Given the description of an element on the screen output the (x, y) to click on. 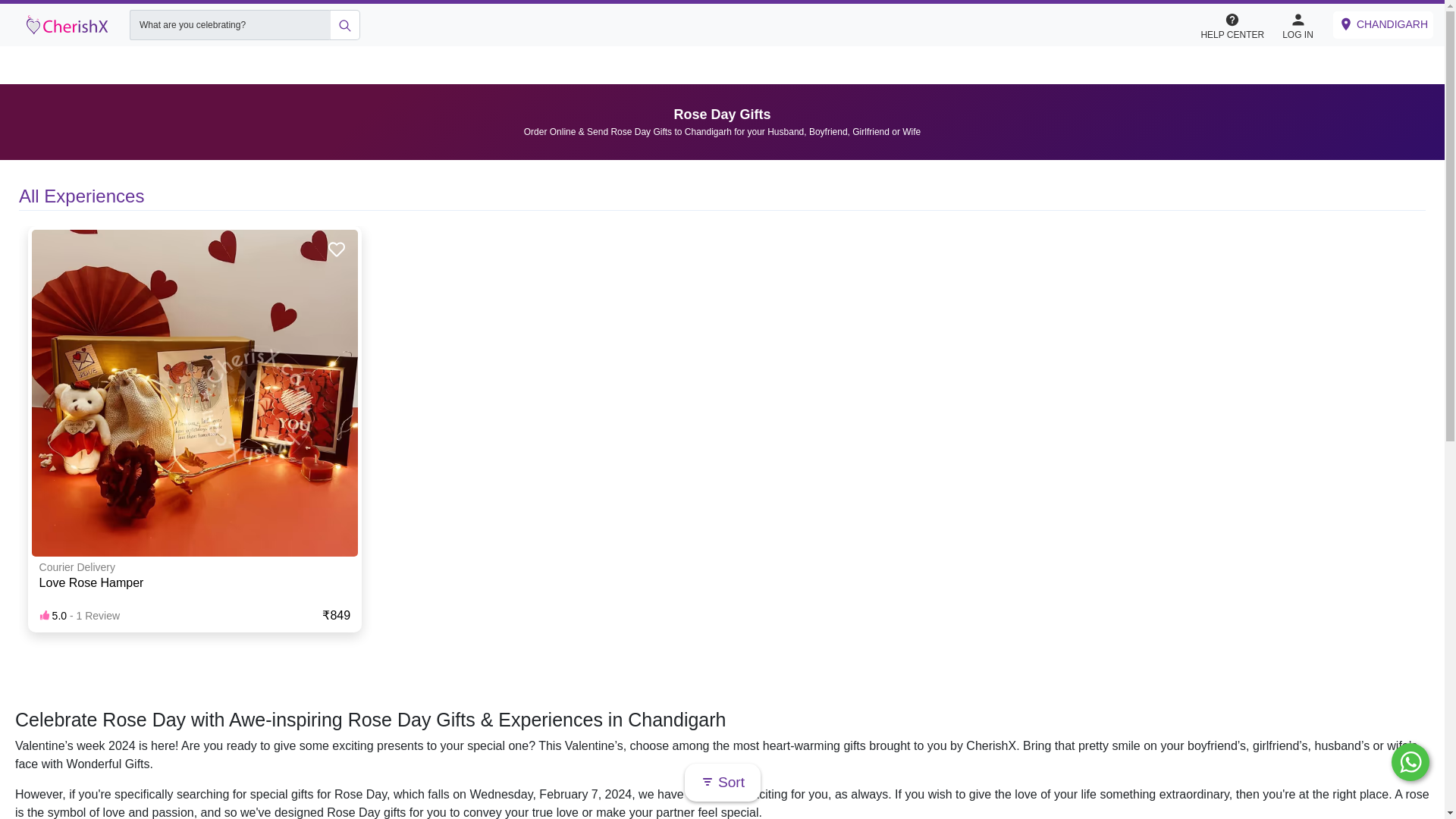
What are you celebrating? (229, 24)
HELP CENTER (1231, 24)
LOG IN (1297, 24)
HELP CENTER (1239, 25)
CHANDIGARH (1382, 24)
What are you celebrating? (229, 24)
